Given the description of an element on the screen output the (x, y) to click on. 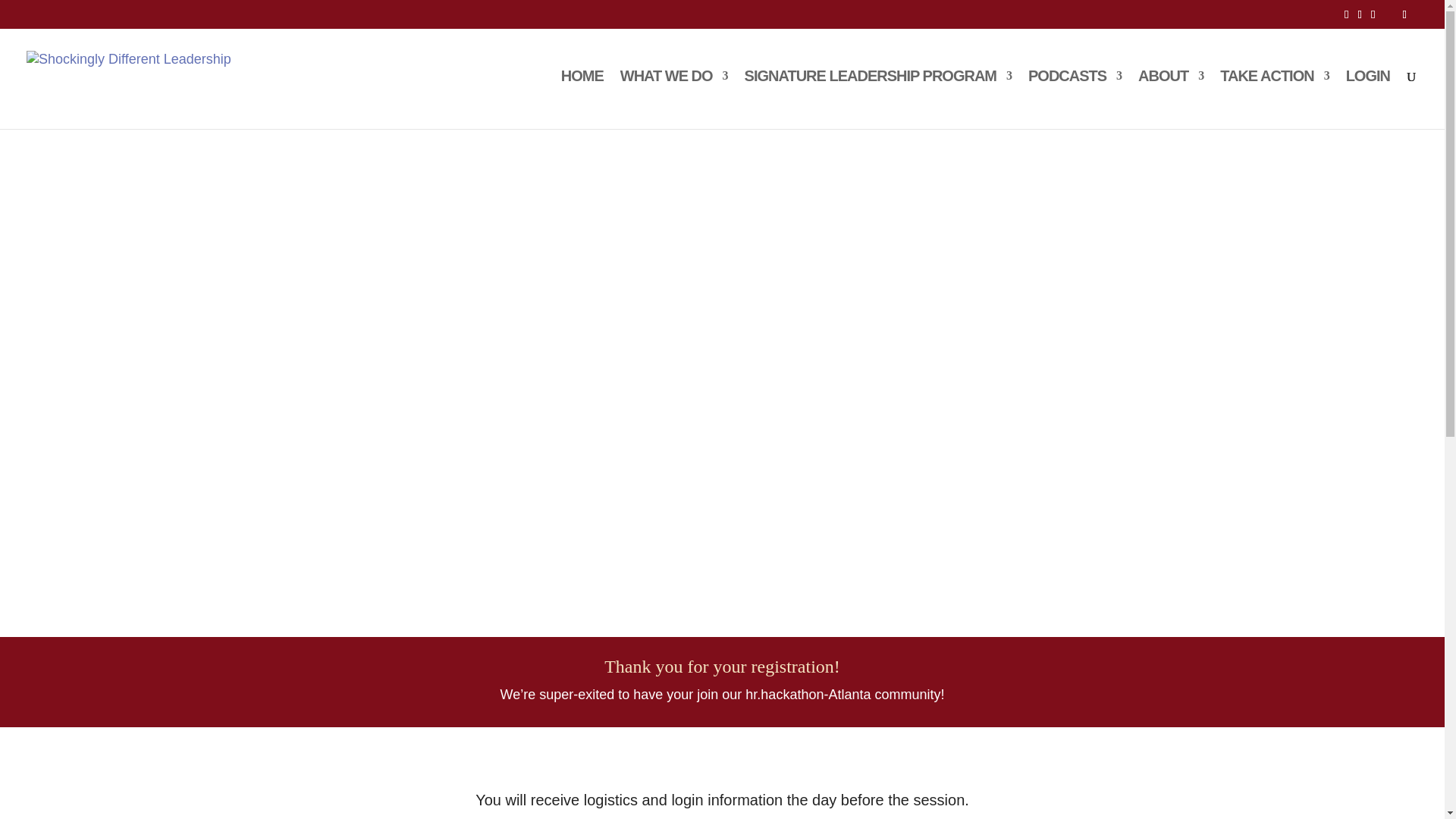
WHAT WE DO (674, 99)
SIGNATURE LEADERSHIP PROGRAM (877, 99)
